Given the description of an element on the screen output the (x, y) to click on. 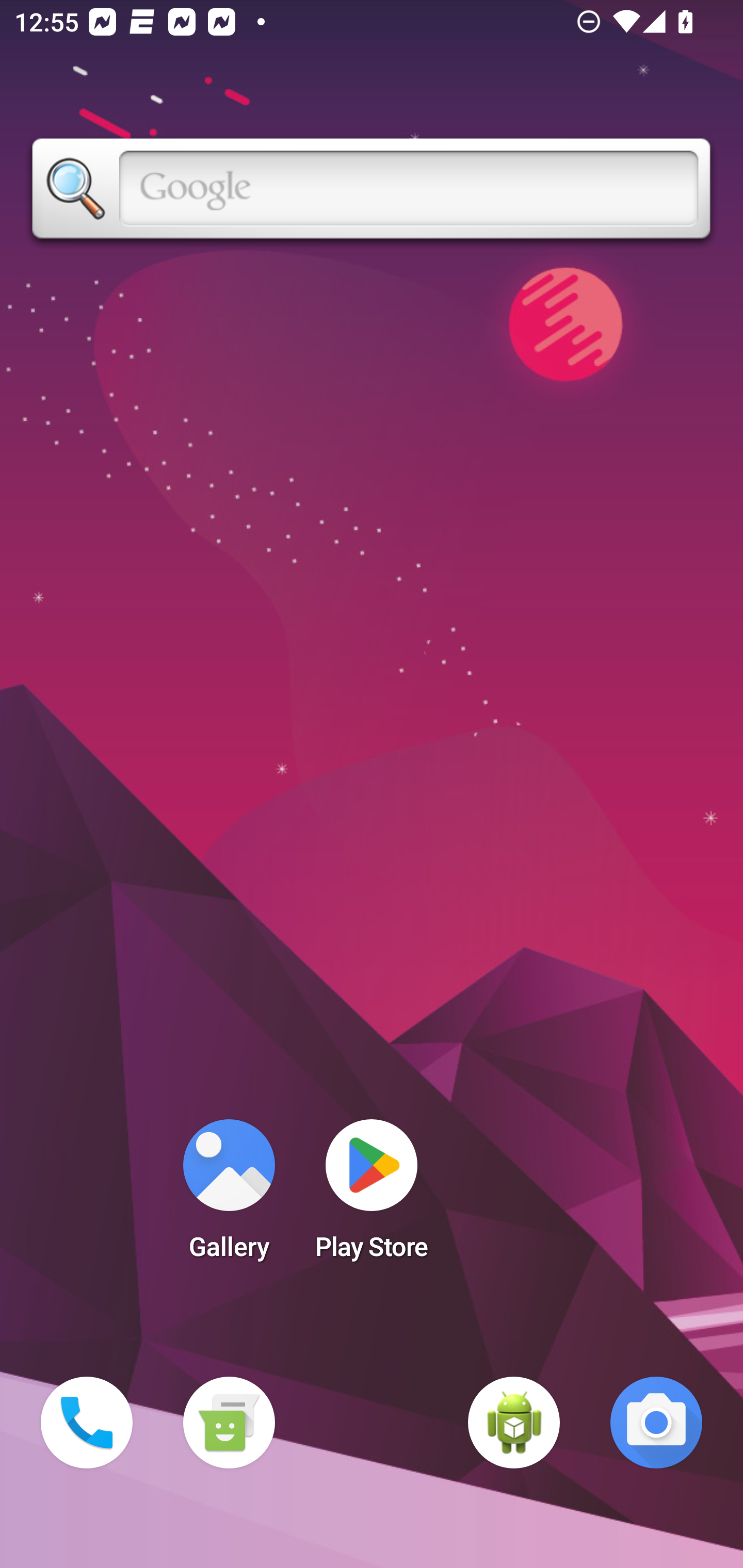
Gallery (228, 1195)
Play Store (371, 1195)
Phone (86, 1422)
Messaging (228, 1422)
WebView Browser Tester (513, 1422)
Camera (656, 1422)
